Given the description of an element on the screen output the (x, y) to click on. 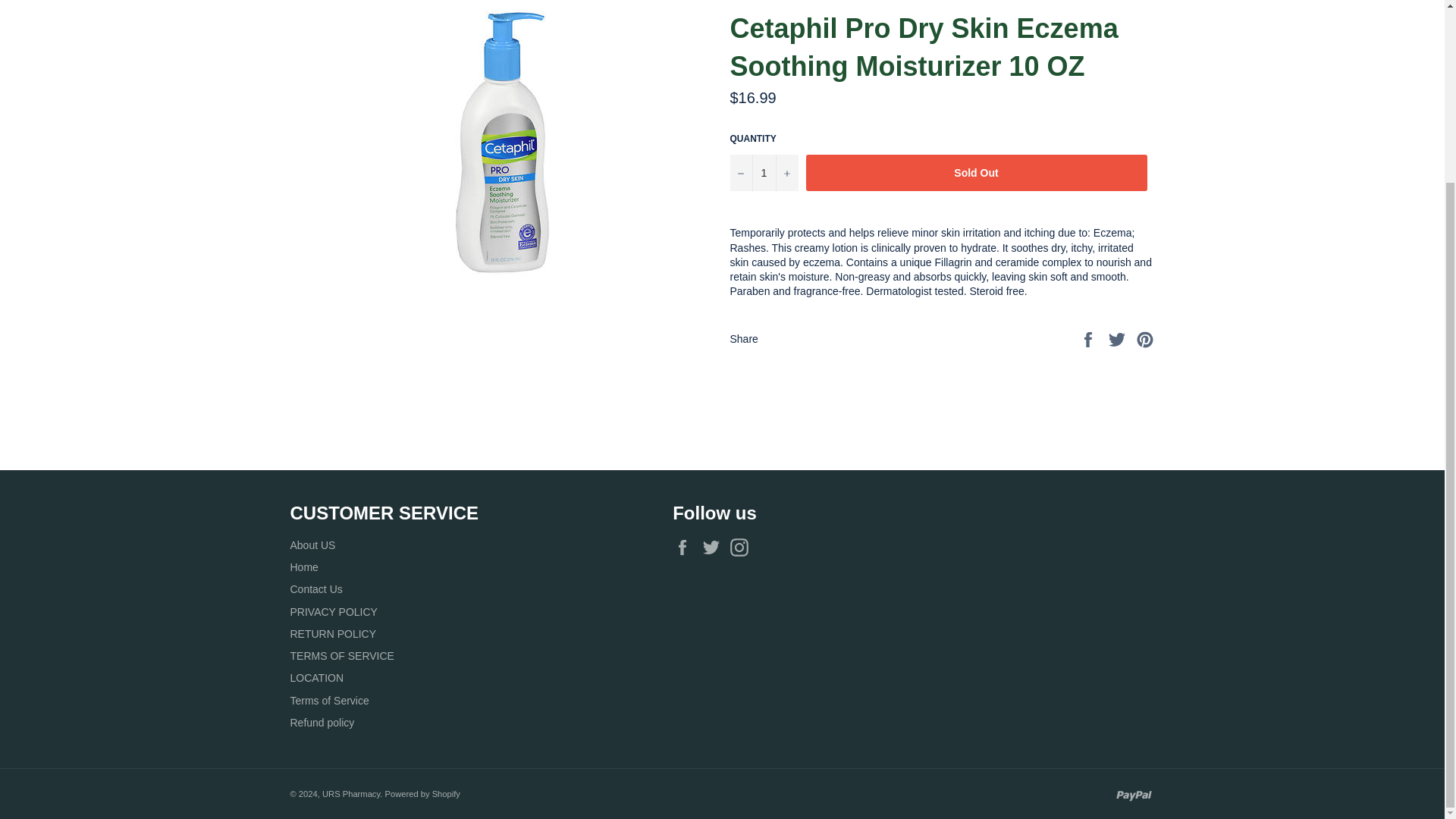
URS Pharmacy on Twitter (714, 547)
URS Pharmacy on Facebook (685, 547)
Share on Facebook (1089, 337)
Tweet on Twitter (1118, 337)
Pin on Pinterest (1144, 337)
1 (763, 172)
URS Pharmacy on Instagram (742, 547)
